Given the description of an element on the screen output the (x, y) to click on. 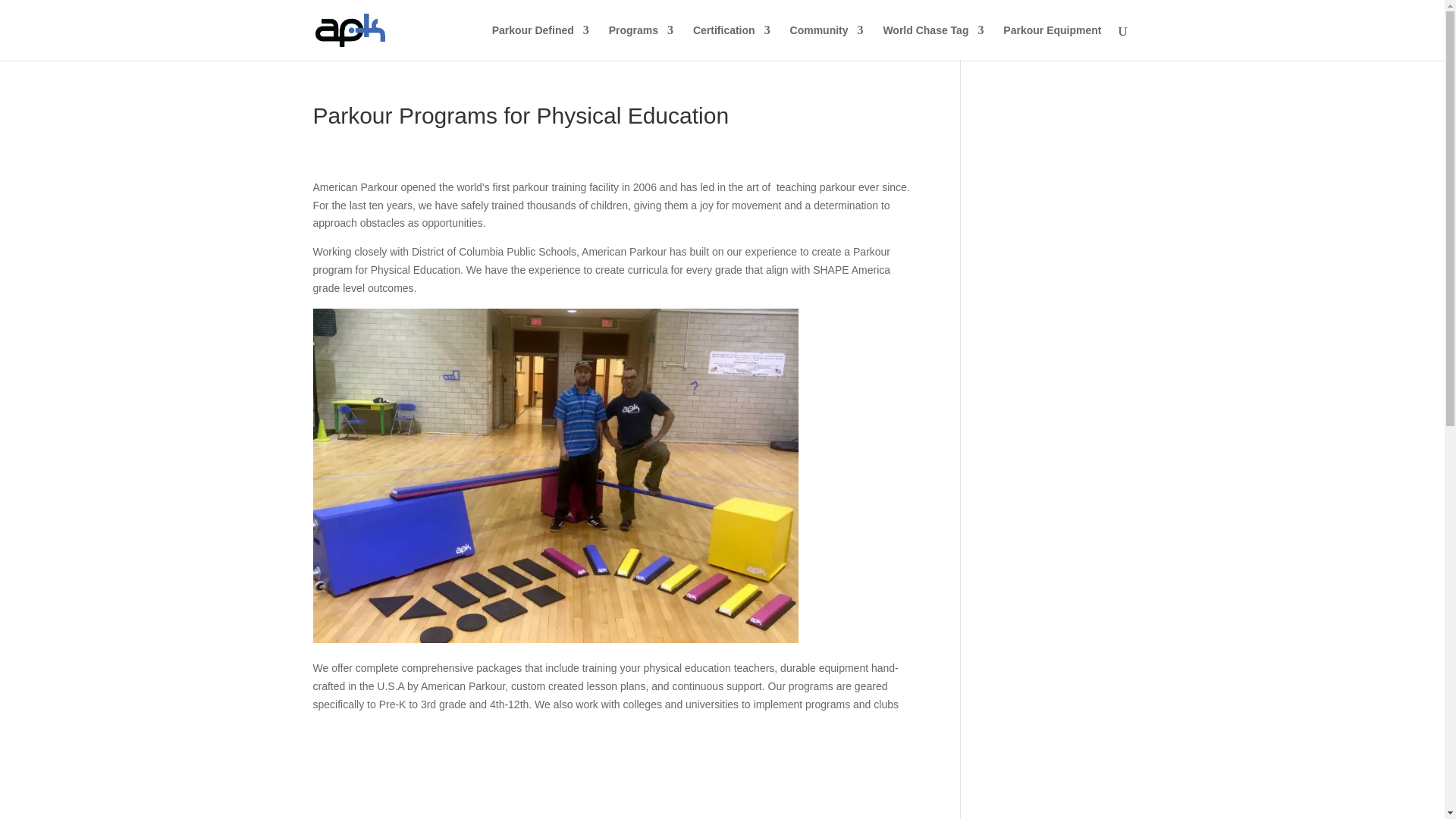
Parkour Equipment (1051, 42)
Parkour Defined (540, 42)
Community (826, 42)
Certification (731, 42)
Programs (640, 42)
World Chase Tag (933, 42)
